Given the description of an element on the screen output the (x, y) to click on. 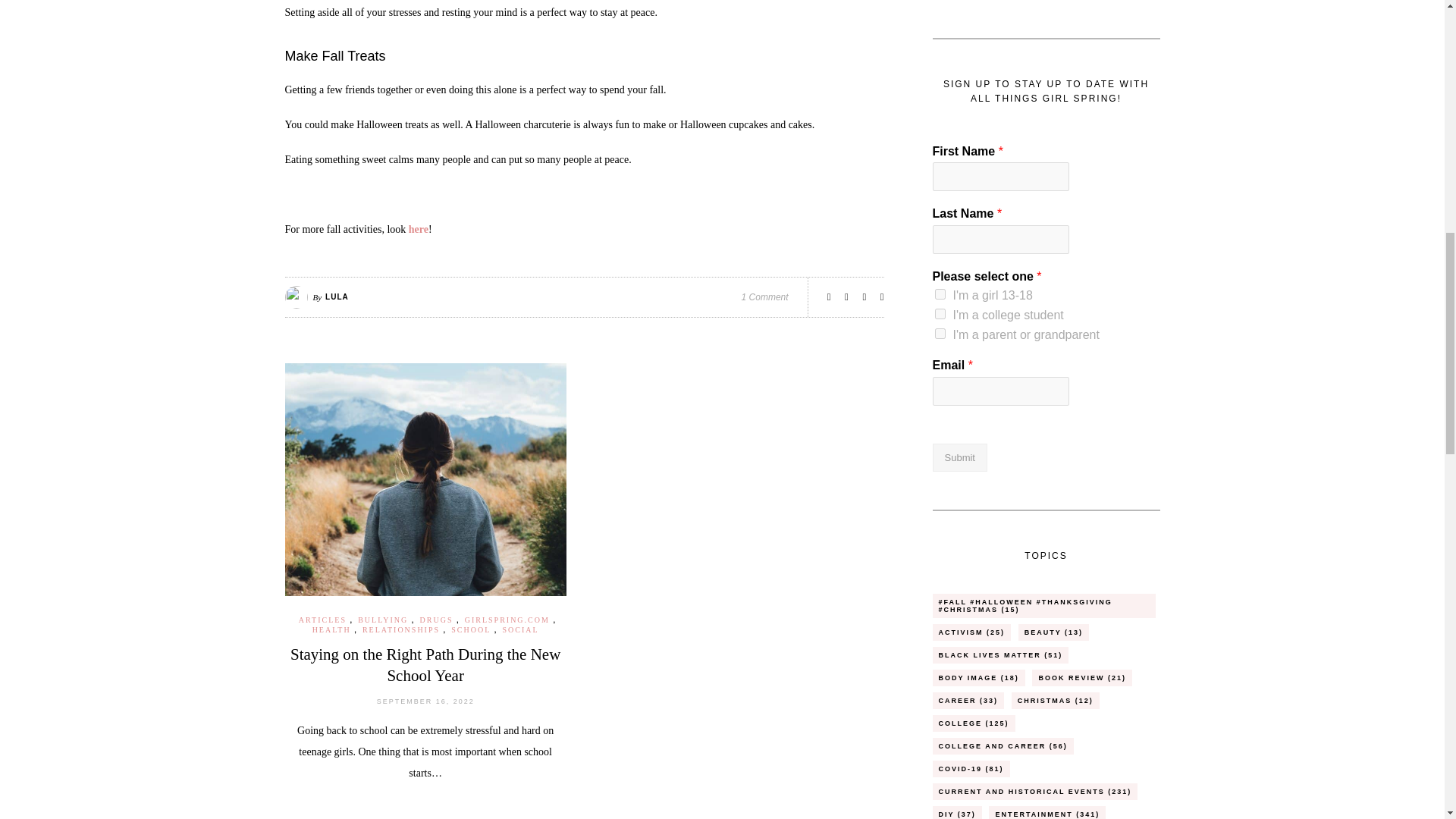
I'm a parent or grandparent (939, 333)
Posts by Lula (336, 296)
I'm a girl 13-18 (939, 294)
I'm a college student  (939, 313)
